Given the description of an element on the screen output the (x, y) to click on. 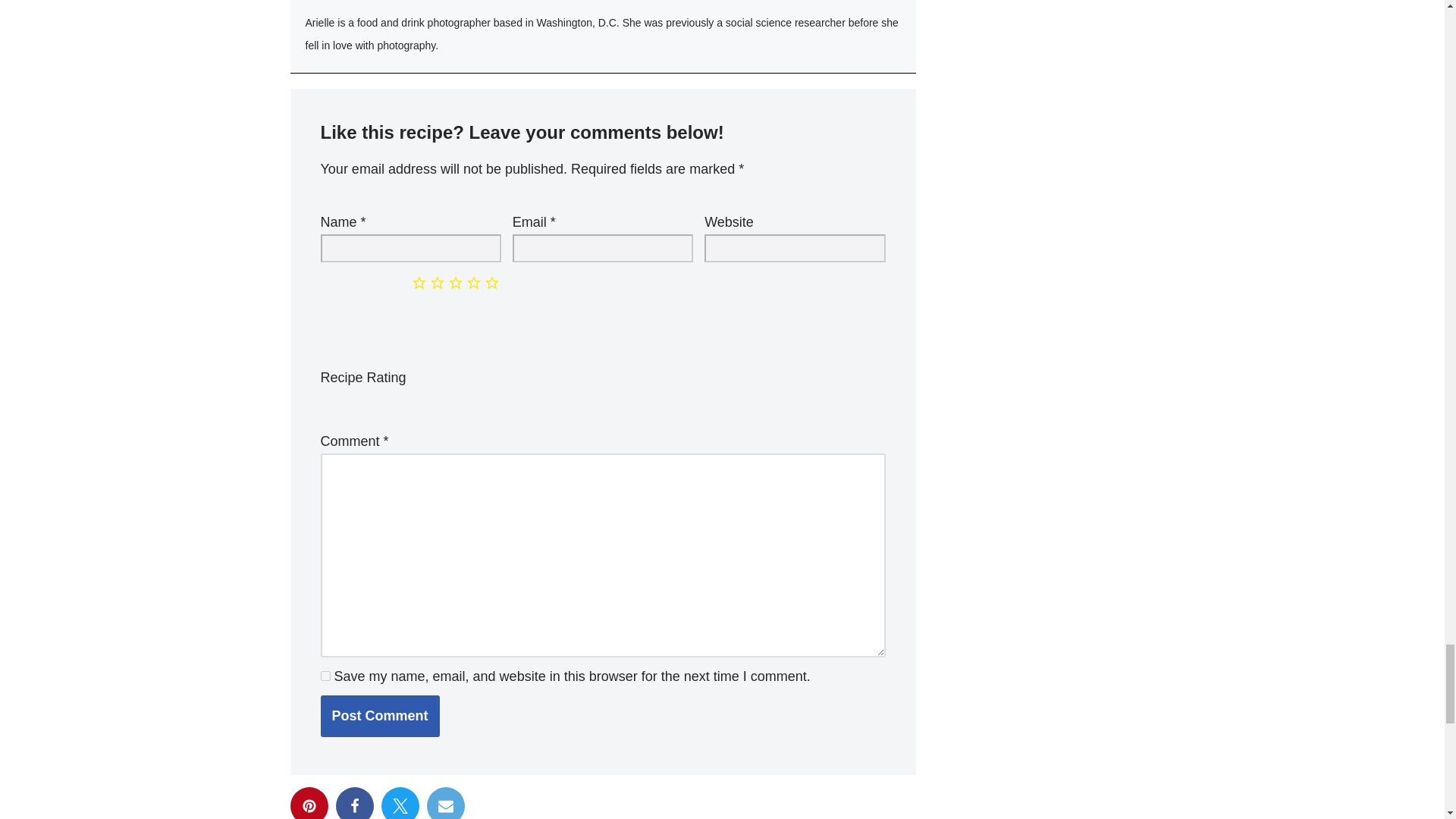
yes (325, 675)
Post Comment (379, 716)
Facebook (353, 803)
Pinterest (308, 803)
